Given the description of an element on the screen output the (x, y) to click on. 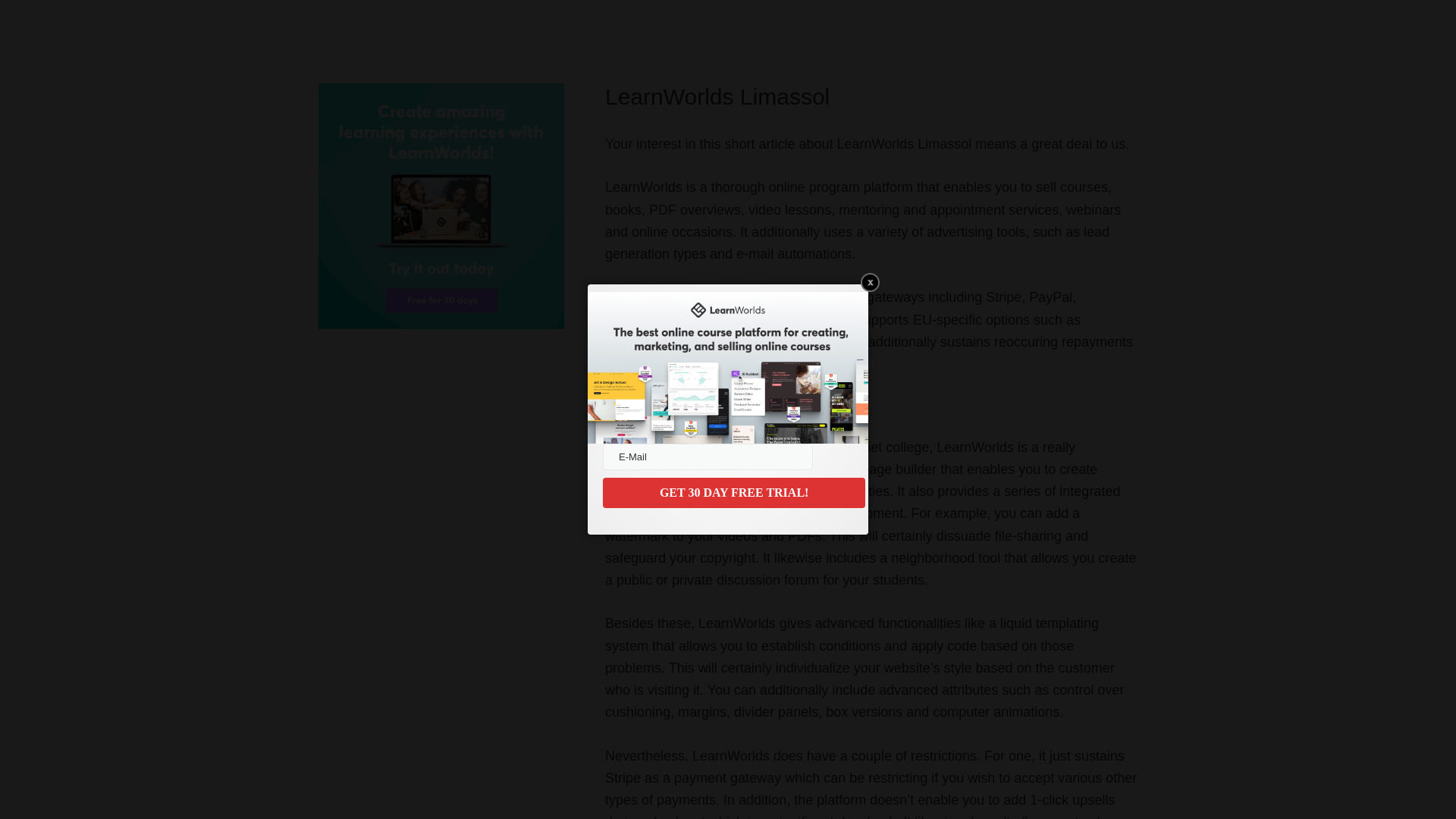
GET 30 DAY FREE TRIAL! (733, 492)
GET 30 DAY FREE TRIAL! (733, 492)
